Given the description of an element on the screen output the (x, y) to click on. 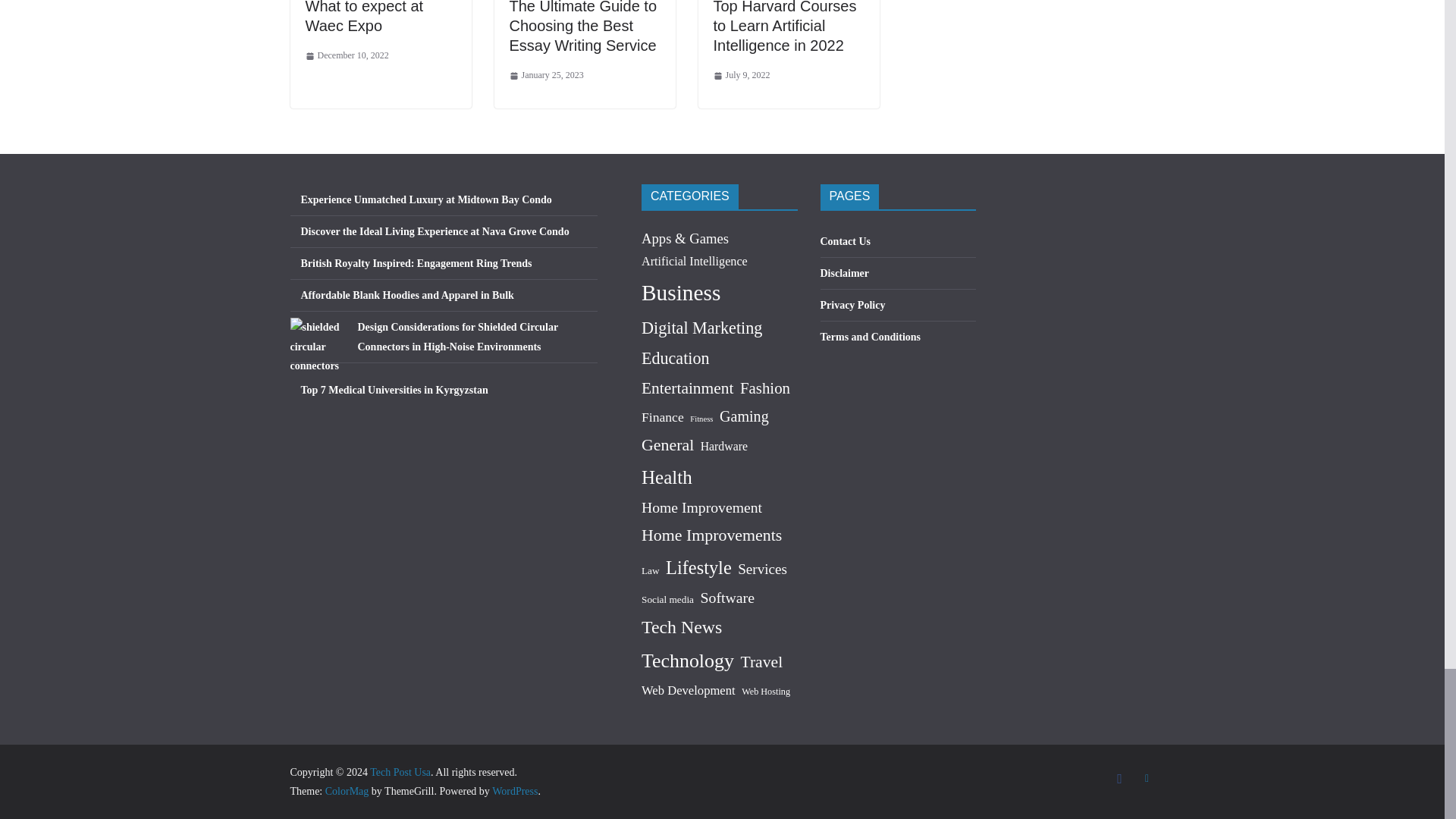
5:51 PM (546, 75)
What to expect at Waec Expo (363, 17)
What to expect at Waec Expo (363, 17)
4:37 PM (346, 55)
December 10, 2022 (346, 55)
